Given the description of an element on the screen output the (x, y) to click on. 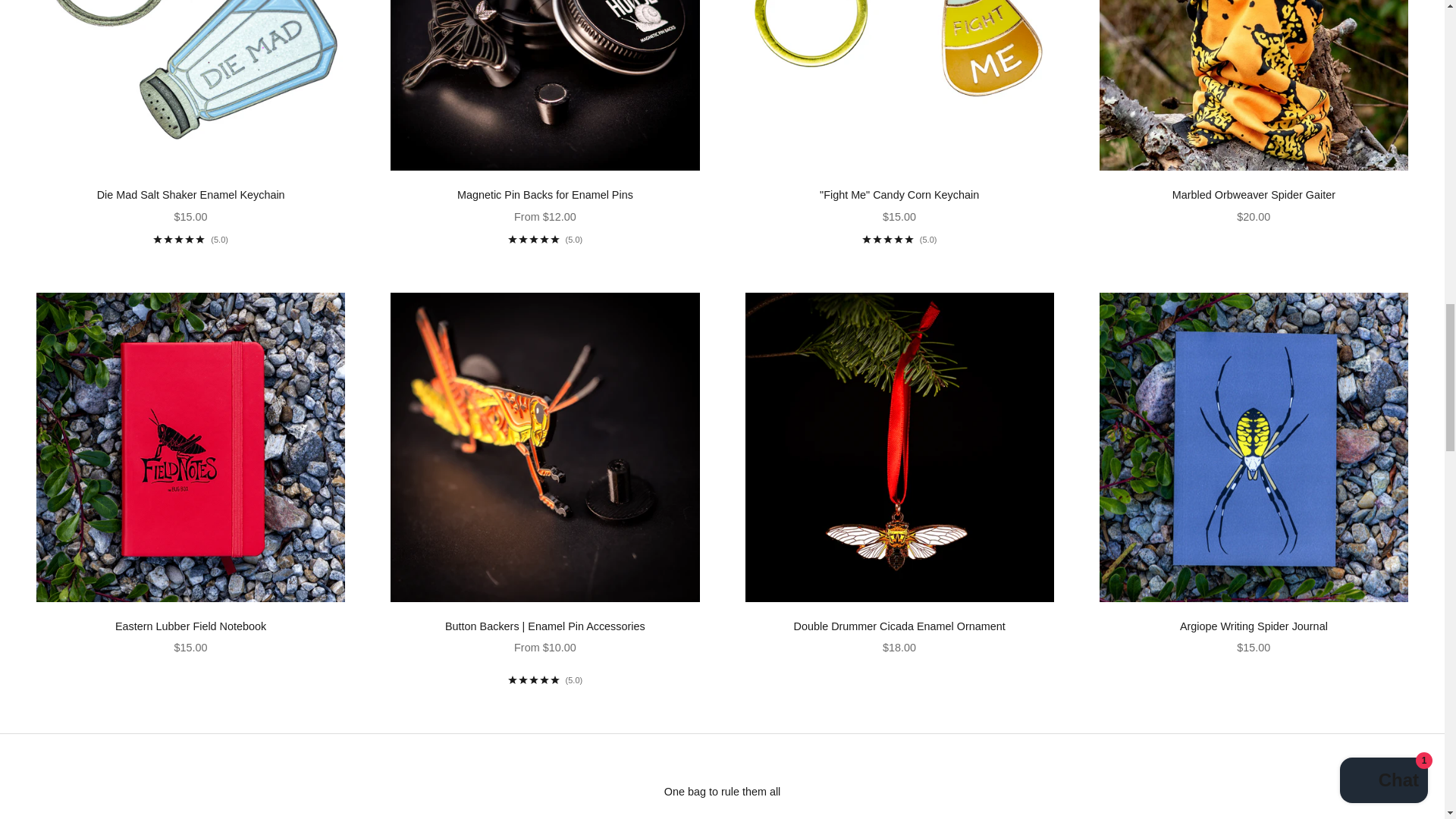
4 reviews (190, 239)
8 reviews (545, 679)
9 reviews (545, 239)
3 reviews (899, 239)
